Given the description of an element on the screen output the (x, y) to click on. 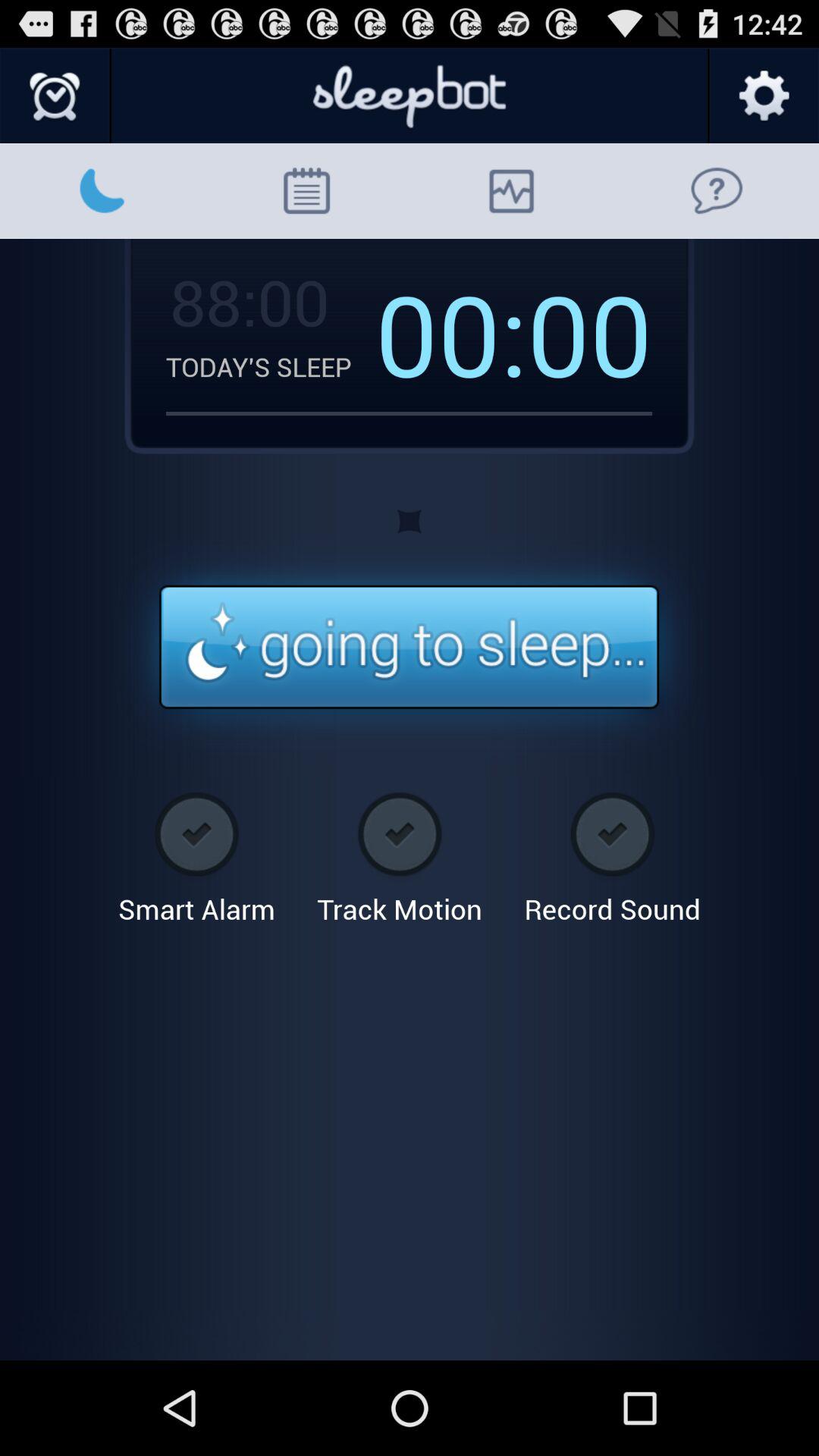
scroll until the record sound app (612, 852)
